Given the description of an element on the screen output the (x, y) to click on. 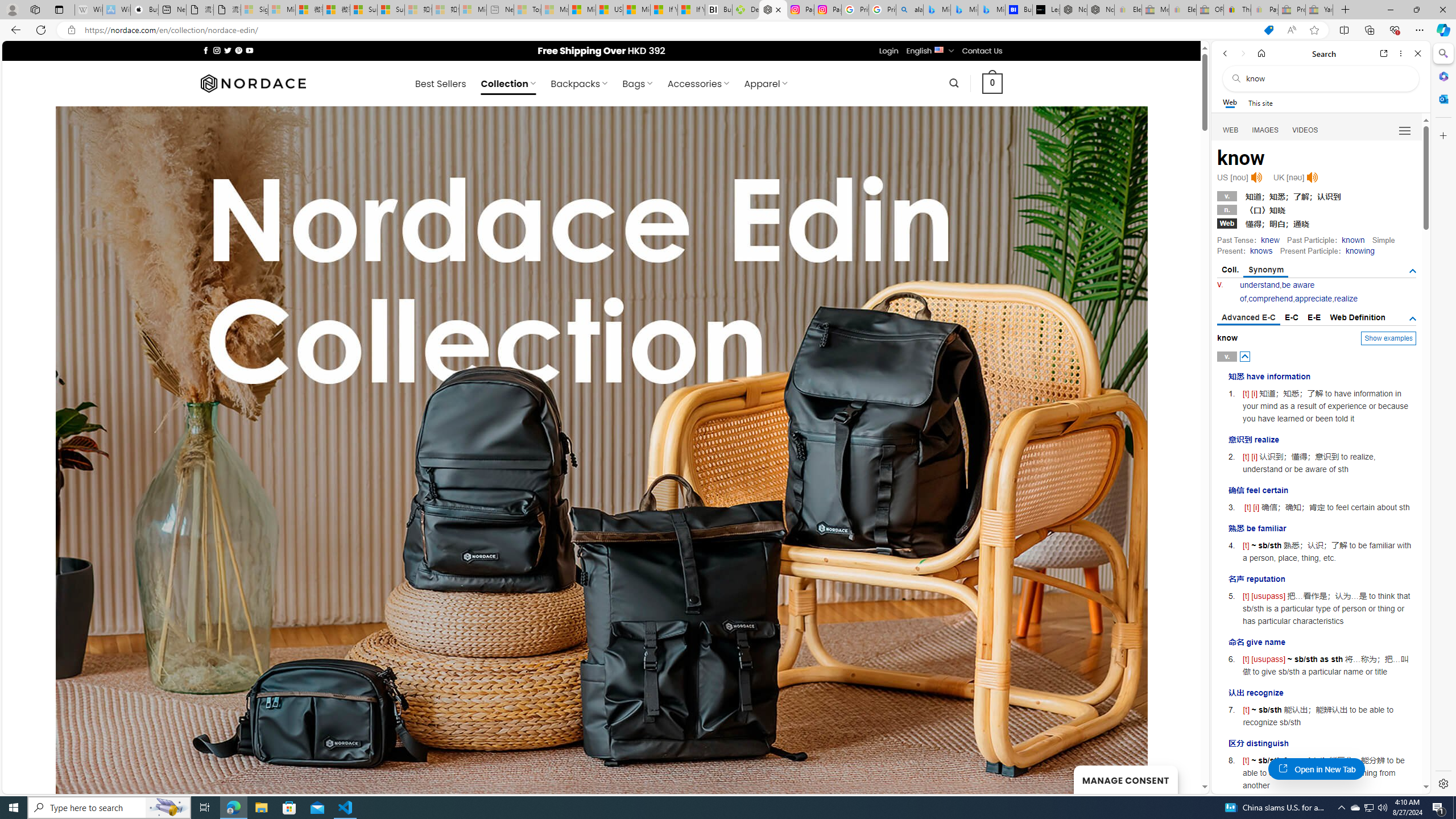
Contact Us (982, 50)
Marine life - MSN - Sleeping (554, 9)
Threats and offensive language policy | eBay (1236, 9)
comprehend (1269, 298)
Advanced E-C (1248, 318)
